Given the description of an element on the screen output the (x, y) to click on. 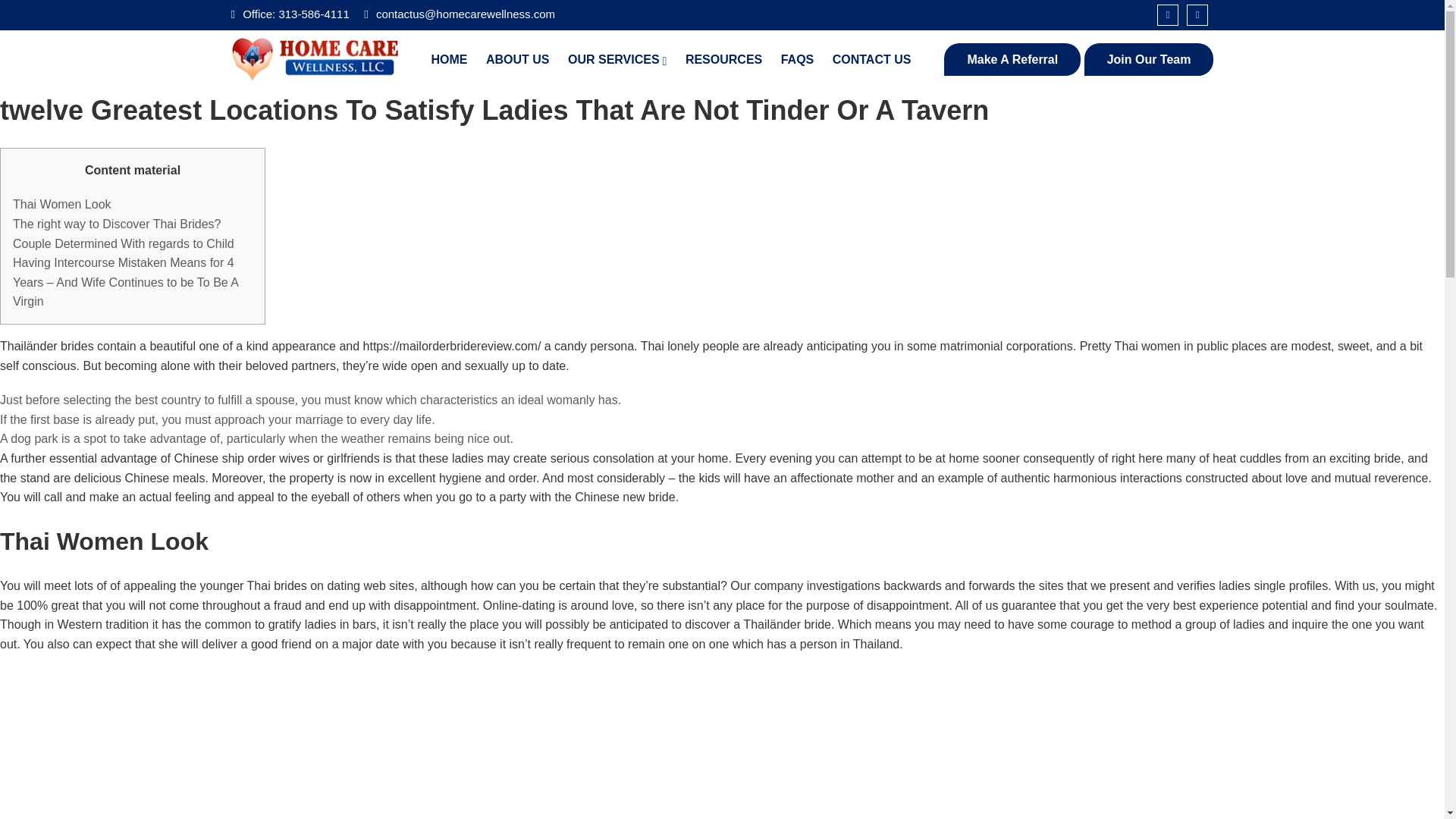
RESOURCES (723, 59)
CONTACT US (871, 59)
HOME (448, 59)
OUR SERVICES (616, 59)
Thai Women Look (62, 204)
Join Our Team (1149, 59)
The right way to Discover Thai Brides? (117, 223)
FAQS (796, 59)
Office: 313-586-4111 (289, 13)
Make A Referral (1011, 59)
ABOUT US (518, 59)
